Given the description of an element on the screen output the (x, y) to click on. 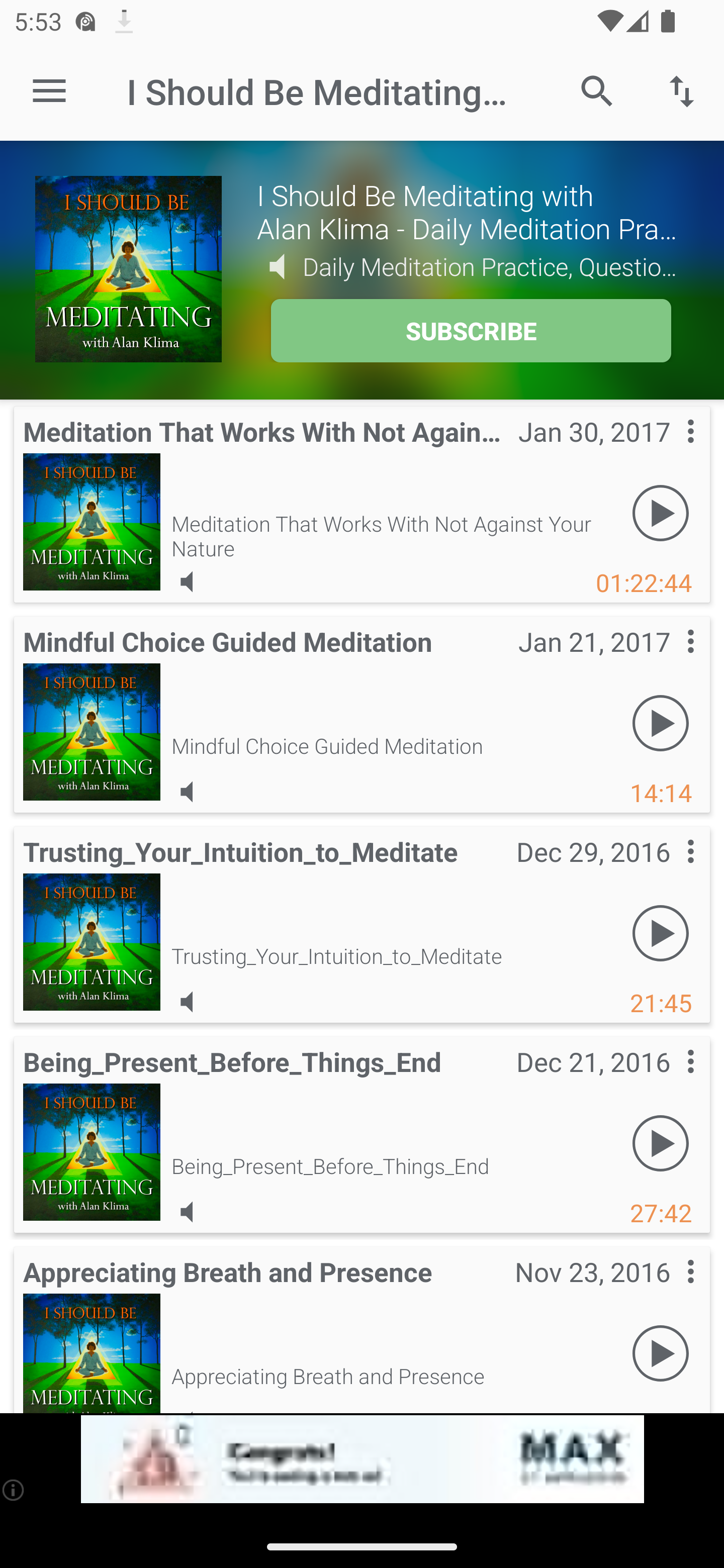
Open navigation sidebar (49, 91)
Search (597, 90)
Sort (681, 90)
SUBSCRIBE (470, 330)
Contextual menu (668, 451)
Play (660, 513)
Contextual menu (668, 661)
Play (660, 723)
Contextual menu (668, 870)
Play (660, 933)
Contextual menu (668, 1080)
Play (660, 1143)
Contextual menu (668, 1290)
Play (660, 1353)
app-monetization (362, 1459)
(i) (14, 1489)
